Given the description of an element on the screen output the (x, y) to click on. 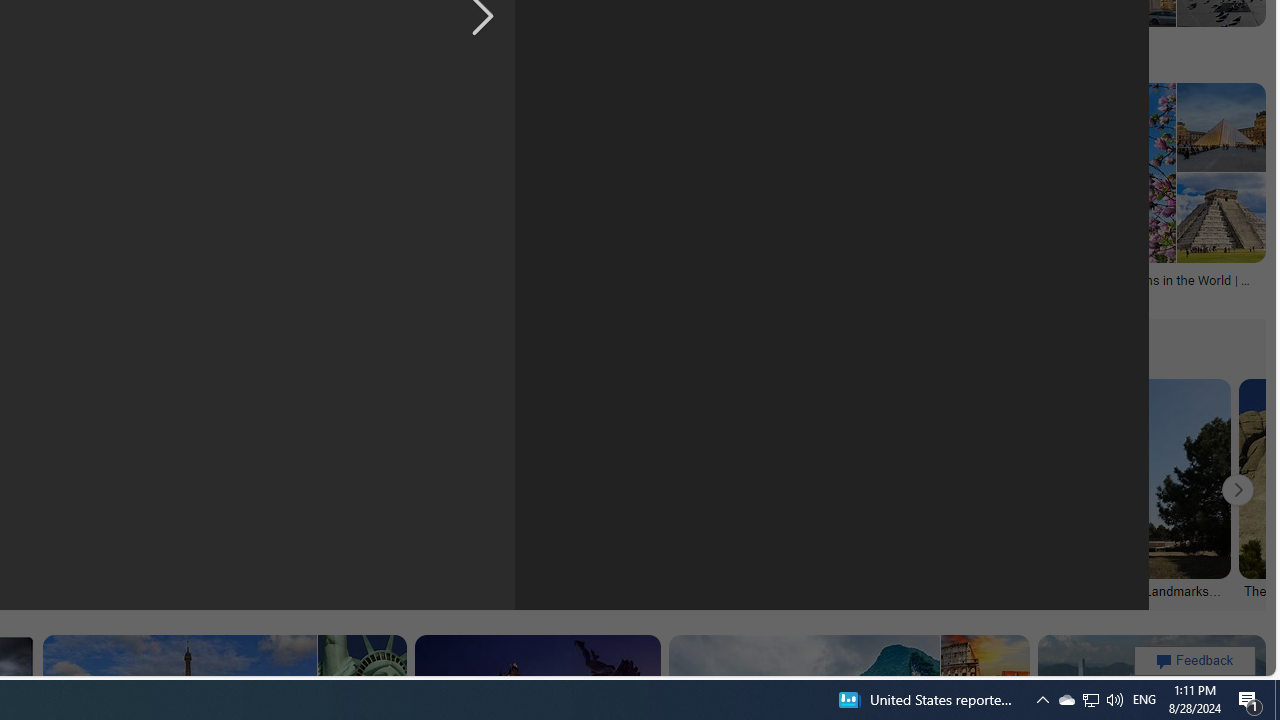
PlanetWare (1115, 295)
PlanetWare (1016, 294)
World's most popular tourist attractions - Business Insider (511, 50)
Image result for World tourist attraction (1115, 172)
blogspot.com (1100, 58)
femuacorsica.com (106, 57)
